Given the description of an element on the screen output the (x, y) to click on. 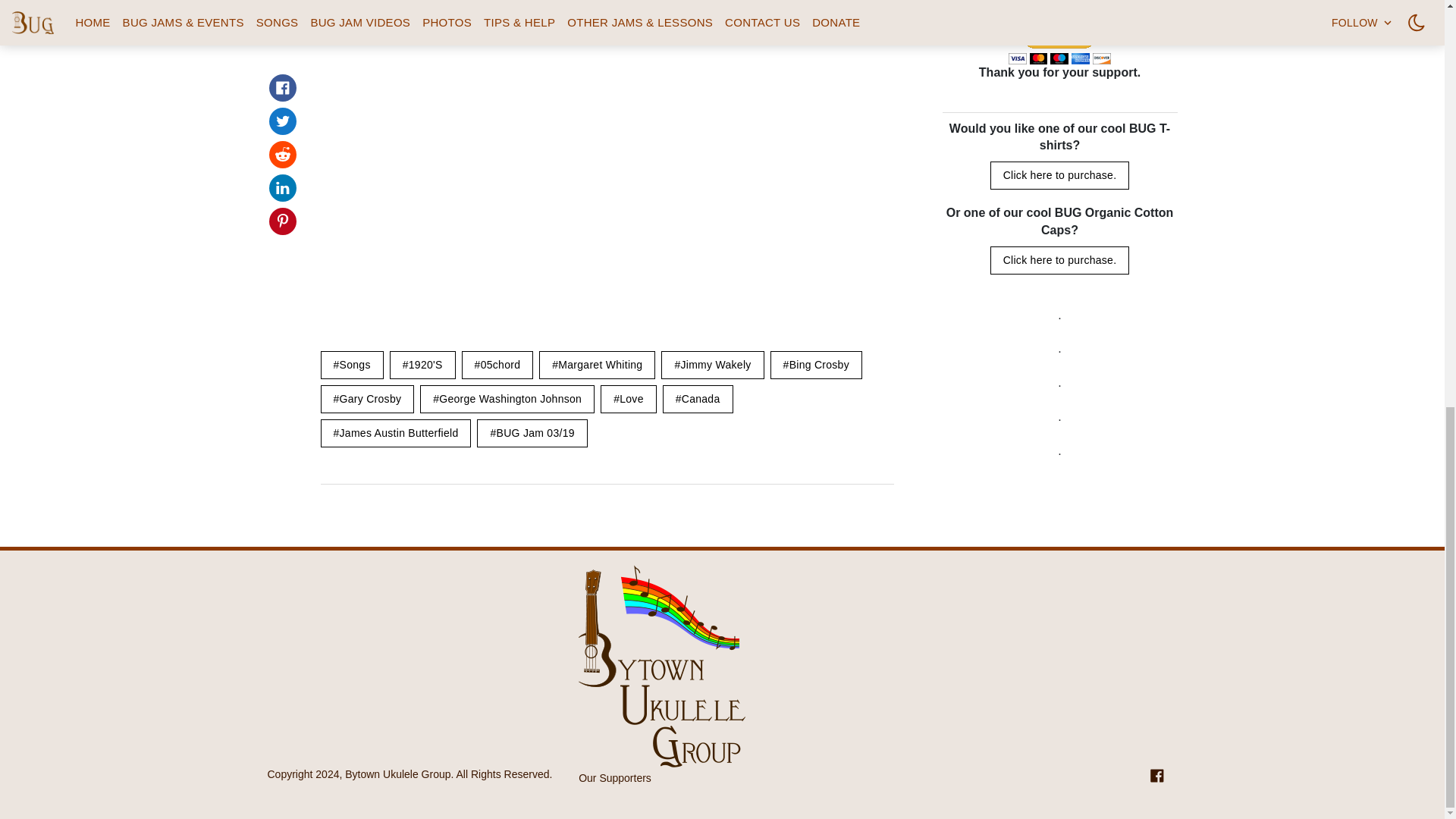
James Austin Butterfield (395, 432)
Songs (351, 364)
Bing Crosby (815, 364)
Gary Crosby (366, 398)
05chord (497, 364)
Love (627, 398)
Jimmy Wakely (711, 364)
1920's (422, 364)
George Washington Johnson (507, 398)
Love (627, 398)
